Given the description of an element on the screen output the (x, y) to click on. 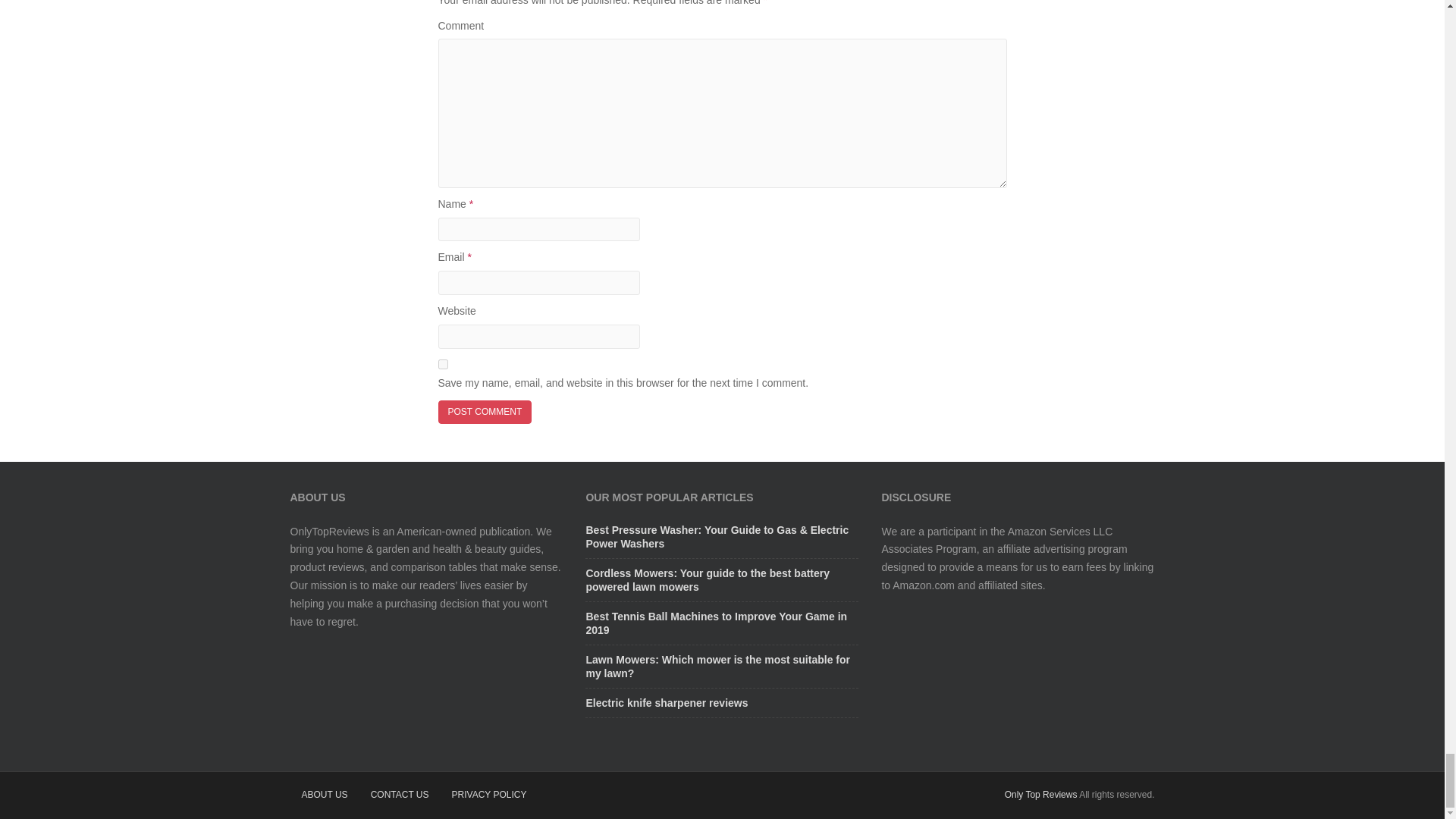
Post Comment (485, 412)
yes (443, 364)
Only Top Reviews (1040, 794)
